Given the description of an element on the screen output the (x, y) to click on. 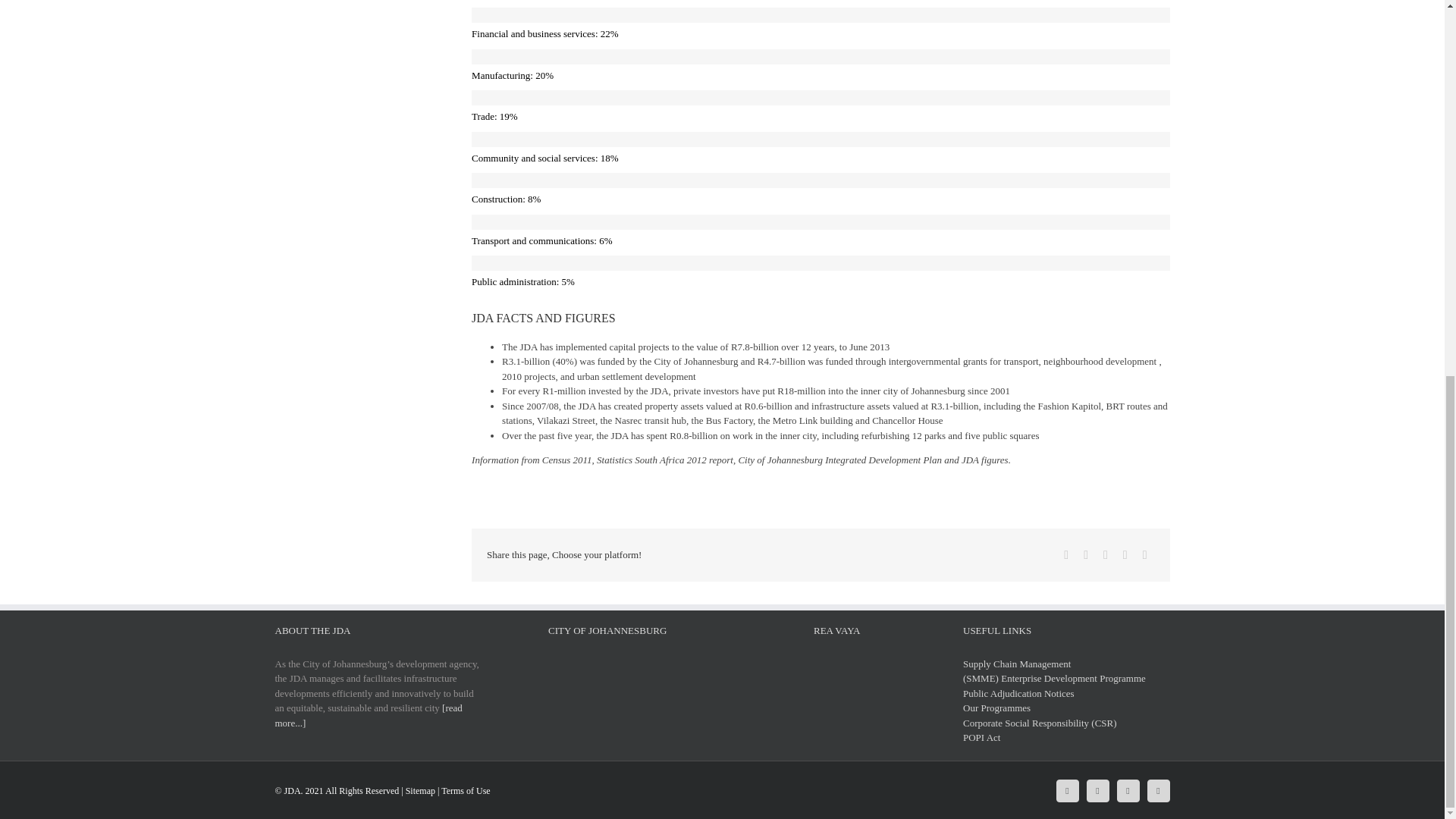
Twitter (1097, 789)
YouTube (1158, 789)
Facebook (1066, 555)
Email (1144, 555)
Instagram (1127, 789)
Twitter (1085, 555)
WhatsApp (1125, 555)
Facebook (1066, 789)
A Joburg that works is a South Africa that works (607, 686)
LinkedIn (1105, 555)
